Given the description of an element on the screen output the (x, y) to click on. 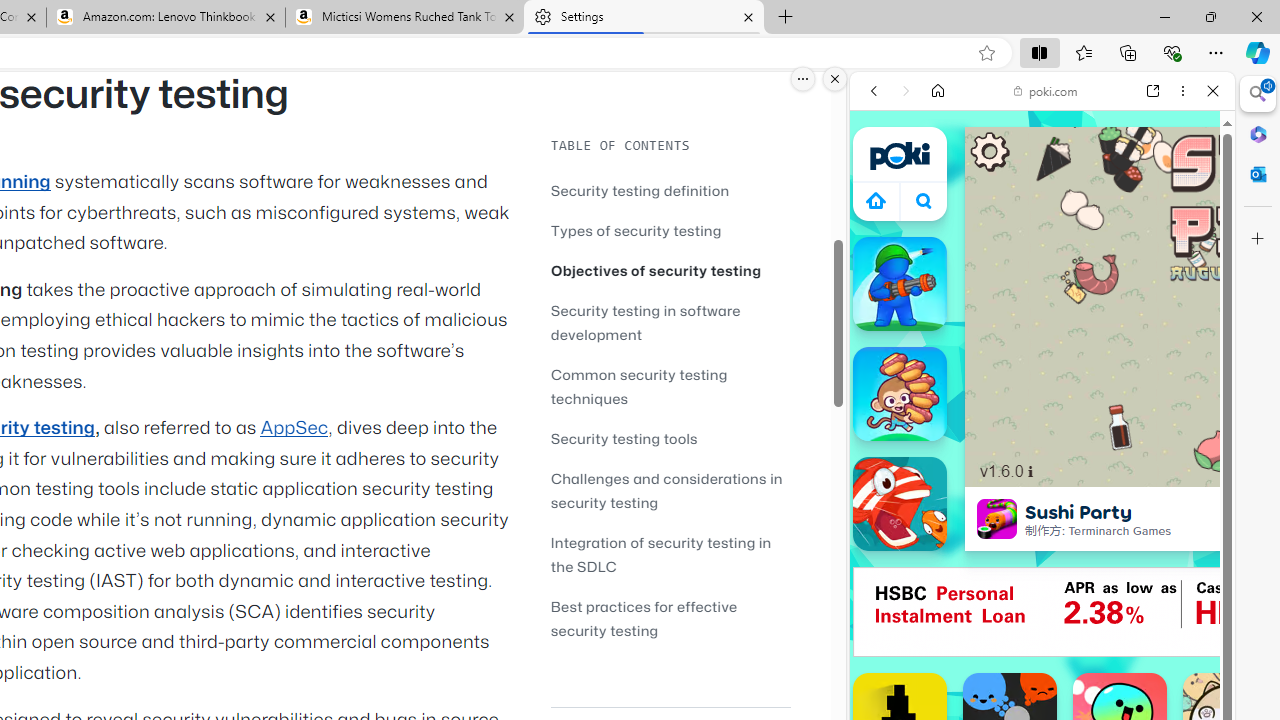
Challenges and considerations in security testing (666, 490)
Io Games (1042, 616)
Security testing in software development (645, 321)
Sports Games (1042, 665)
Car Games (1042, 469)
Best practices for effective security testing (670, 618)
Shooting Games (1042, 518)
poki.com (1046, 90)
Show More Car Games (1164, 472)
Poki (1034, 288)
Monkey Mart Monkey Mart (899, 393)
